Given the description of an element on the screen output the (x, y) to click on. 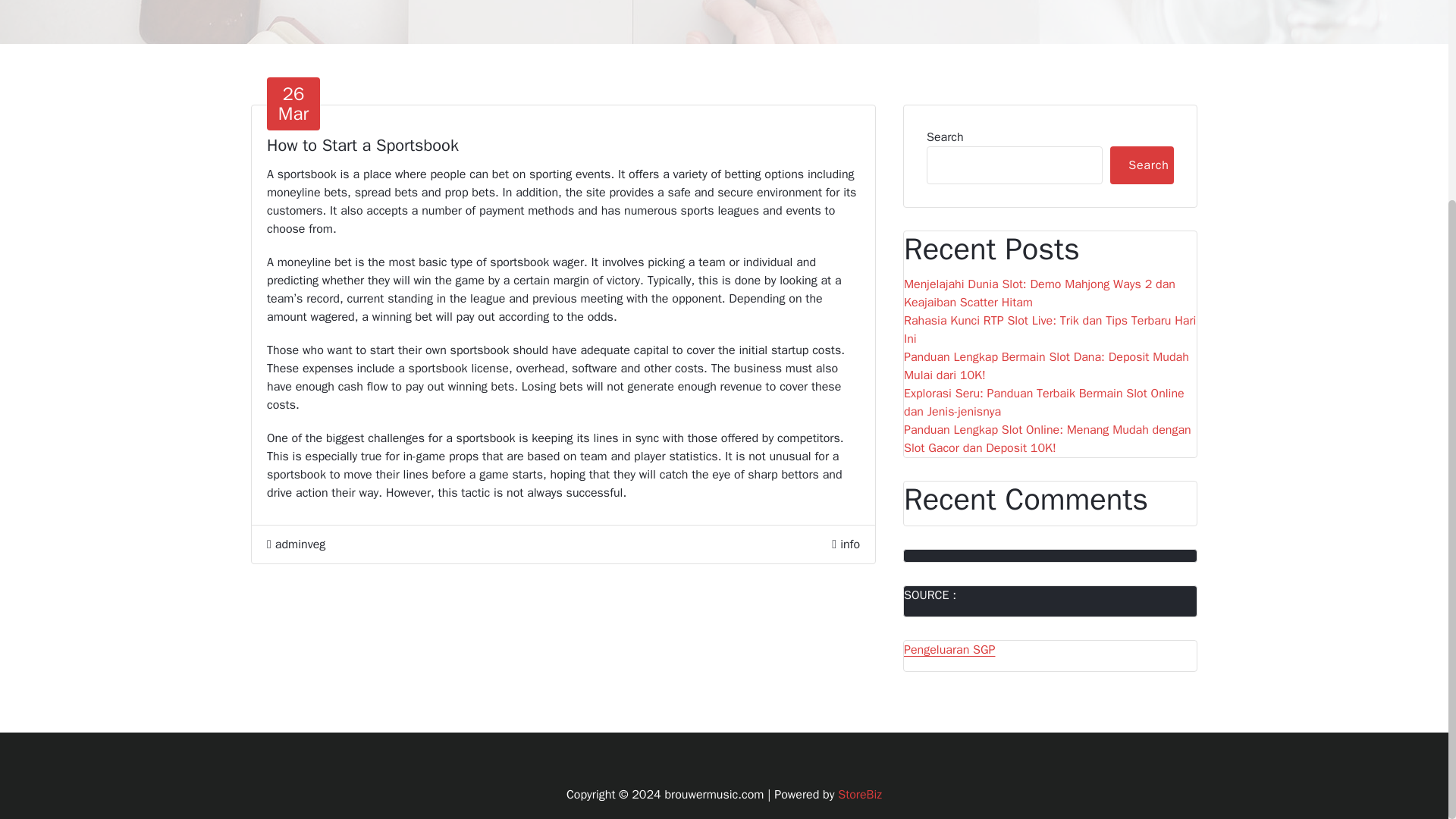
adminveg (295, 544)
Search (1141, 165)
adminveg (295, 544)
Rahasia Kunci RTP Slot Live: Trik dan Tips Terbaru Hari Ini (293, 103)
info (1050, 330)
StoreBiz (850, 544)
Pengeluaran SGP (860, 794)
